Given the description of an element on the screen output the (x, y) to click on. 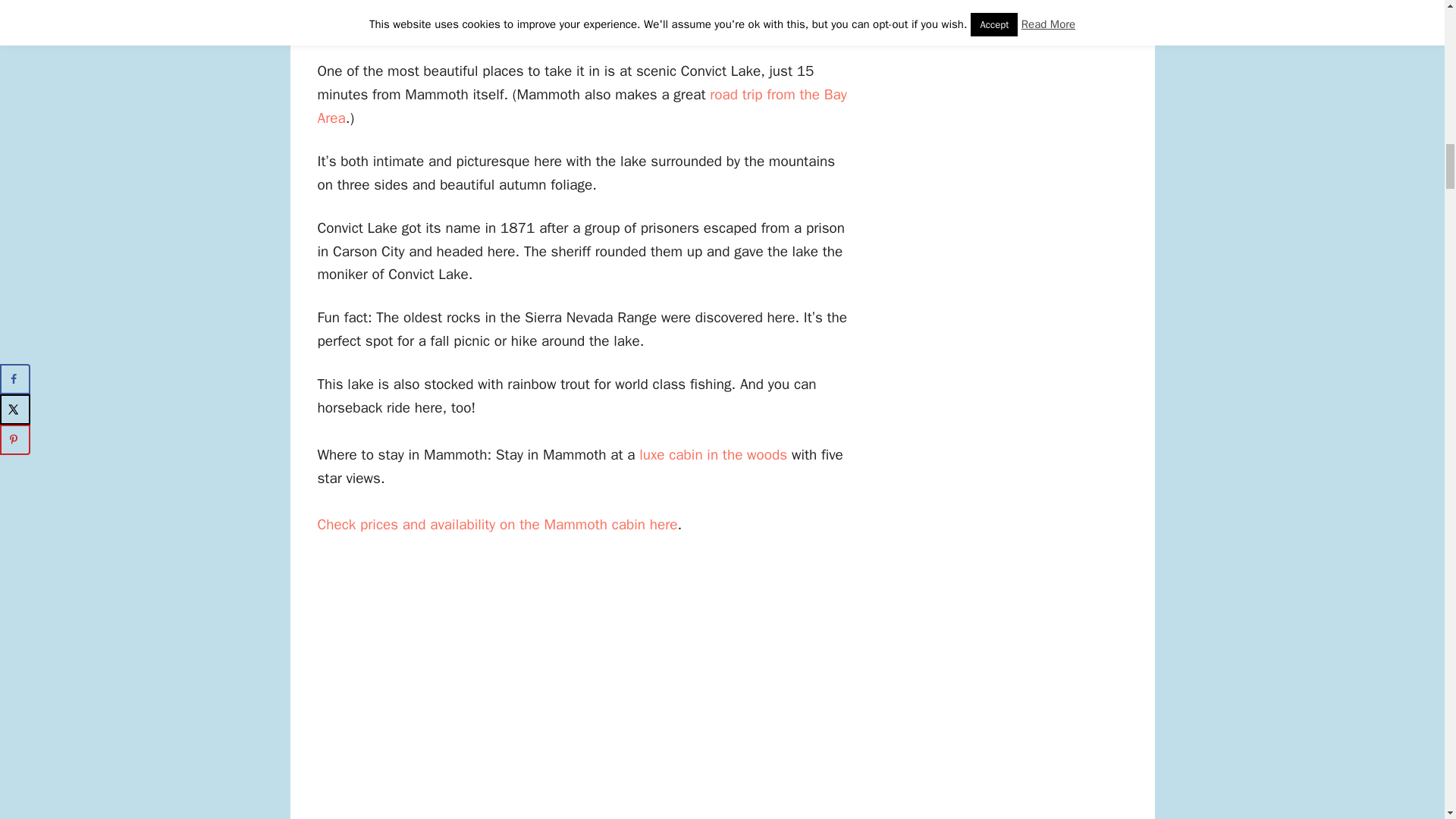
US in Oct - Mammoth lodge (713, 454)
US in Oct - Mammoth lodge (497, 524)
